Given the description of an element on the screen output the (x, y) to click on. 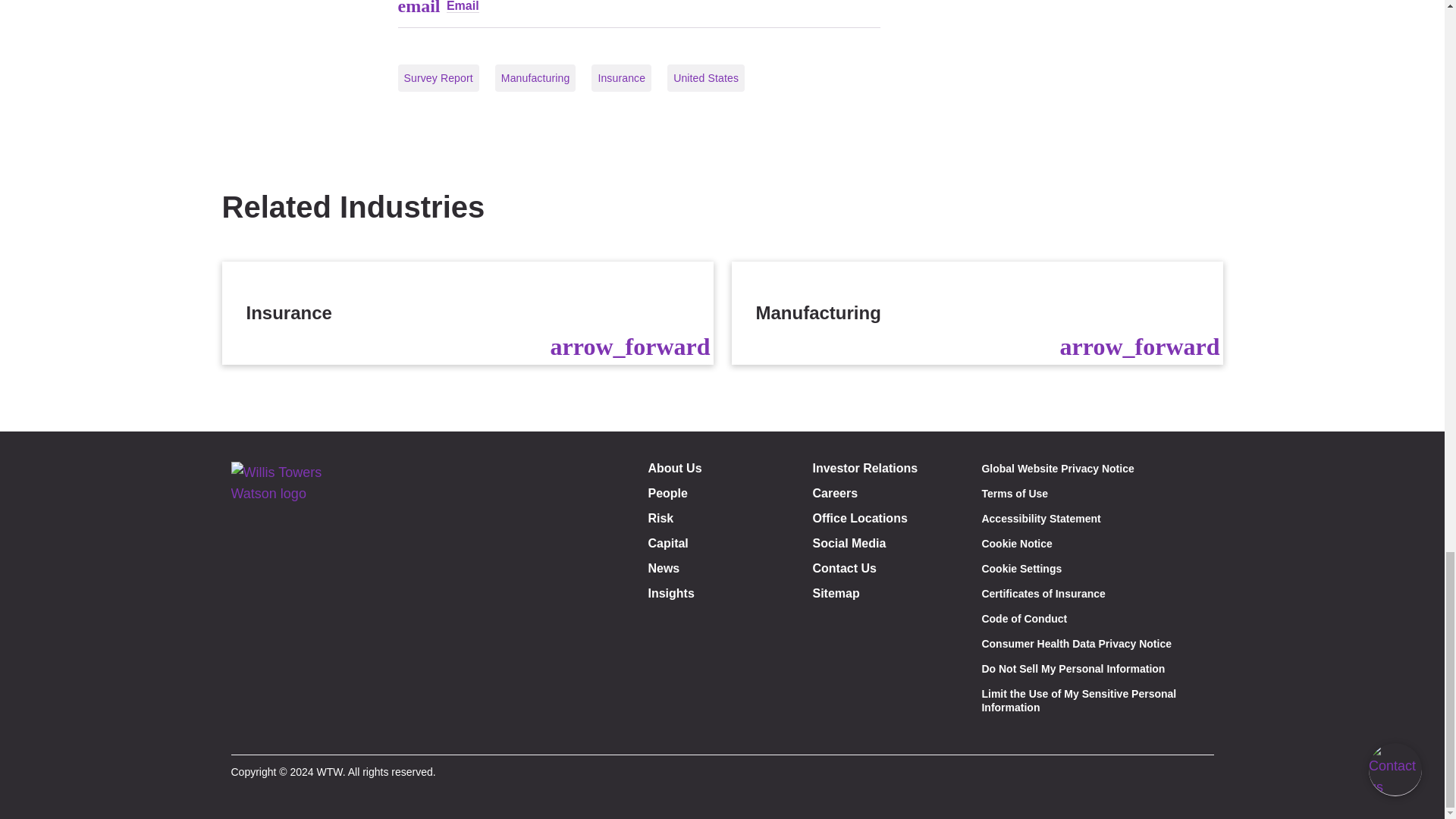
Manufacturing (976, 312)
Linkedin (287, 732)
Instagram (320, 732)
Facebook (252, 732)
Insurance (467, 312)
